Given the description of an element on the screen output the (x, y) to click on. 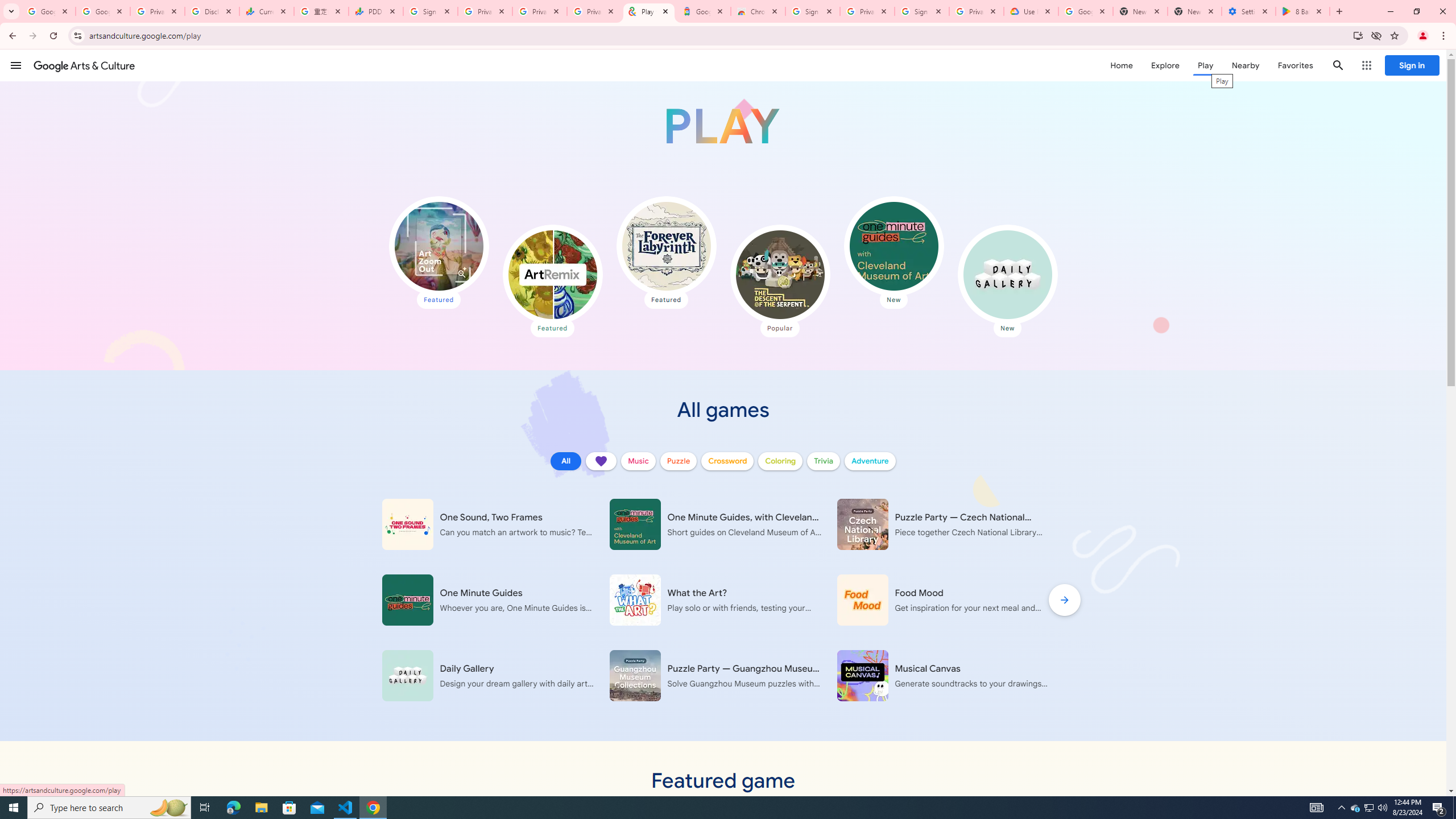
Privacy Checkup (594, 11)
8 Ball Pool - Apps on Google Play (1303, 11)
Sign in - Google Accounts (812, 11)
Daily Gallery (1007, 274)
Currencies - Google Finance (266, 11)
New Tab (1194, 11)
Sign in - Google Accounts (921, 11)
Play (1205, 65)
